Given the description of an element on the screen output the (x, y) to click on. 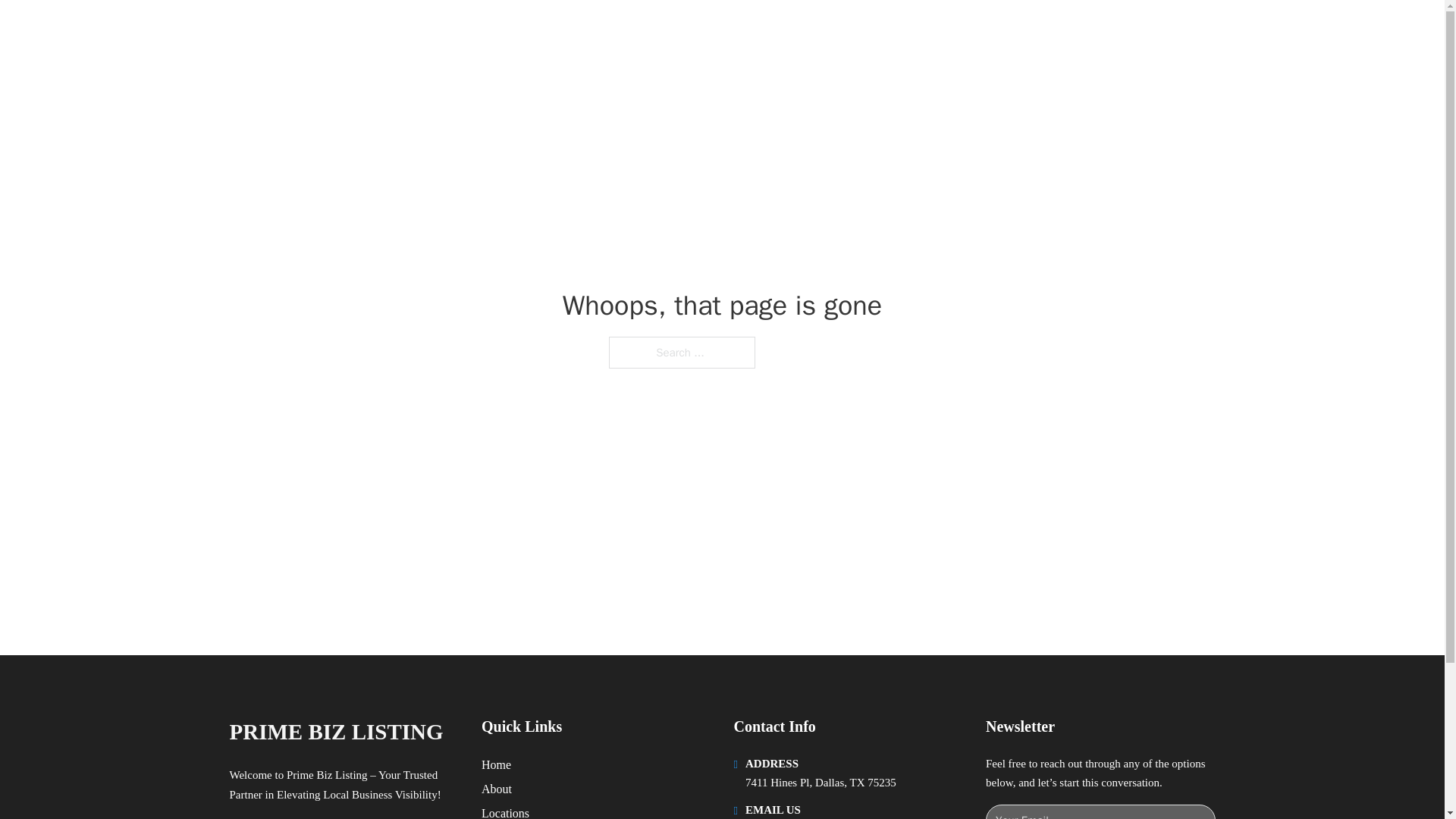
LOCATIONS (990, 29)
Locations (505, 811)
Home (496, 764)
About (496, 788)
PRIME BIZ LISTING (404, 28)
HOME (919, 29)
PRIME BIZ LISTING (335, 732)
